Given the description of an element on the screen output the (x, y) to click on. 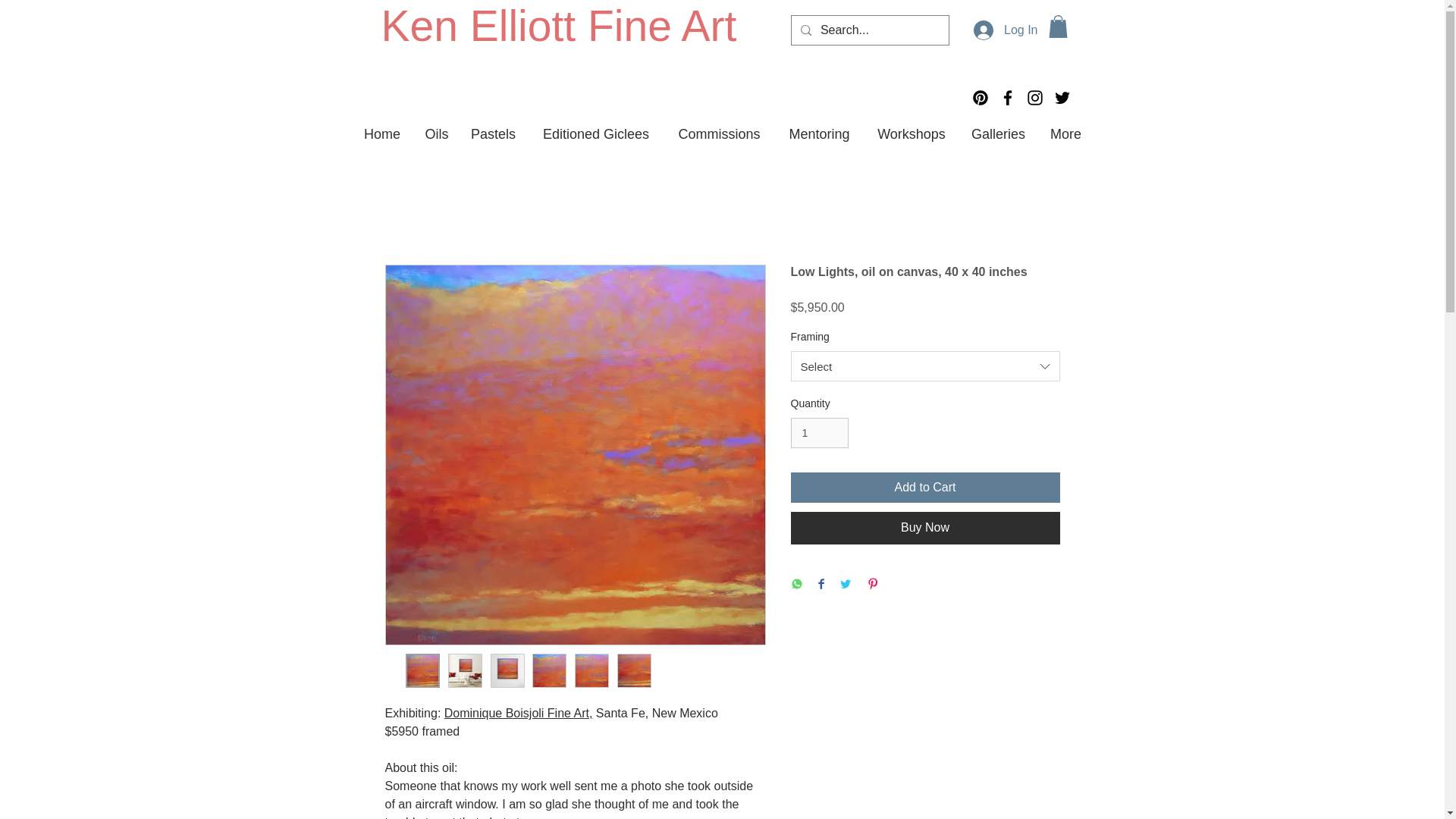
Log In (1005, 30)
Commissions (718, 133)
Home (381, 133)
Pastels (492, 133)
Ken Elliott Fine Art (558, 25)
Add to Cart (924, 487)
Mentoring (819, 133)
Select (924, 366)
Oils (435, 133)
Editioned Giclees (595, 133)
Workshops (911, 133)
Galleries (997, 133)
Buy Now (924, 527)
1 (818, 432)
Dominique Boisjoli Fine Art, (518, 712)
